Given the description of an element on the screen output the (x, y) to click on. 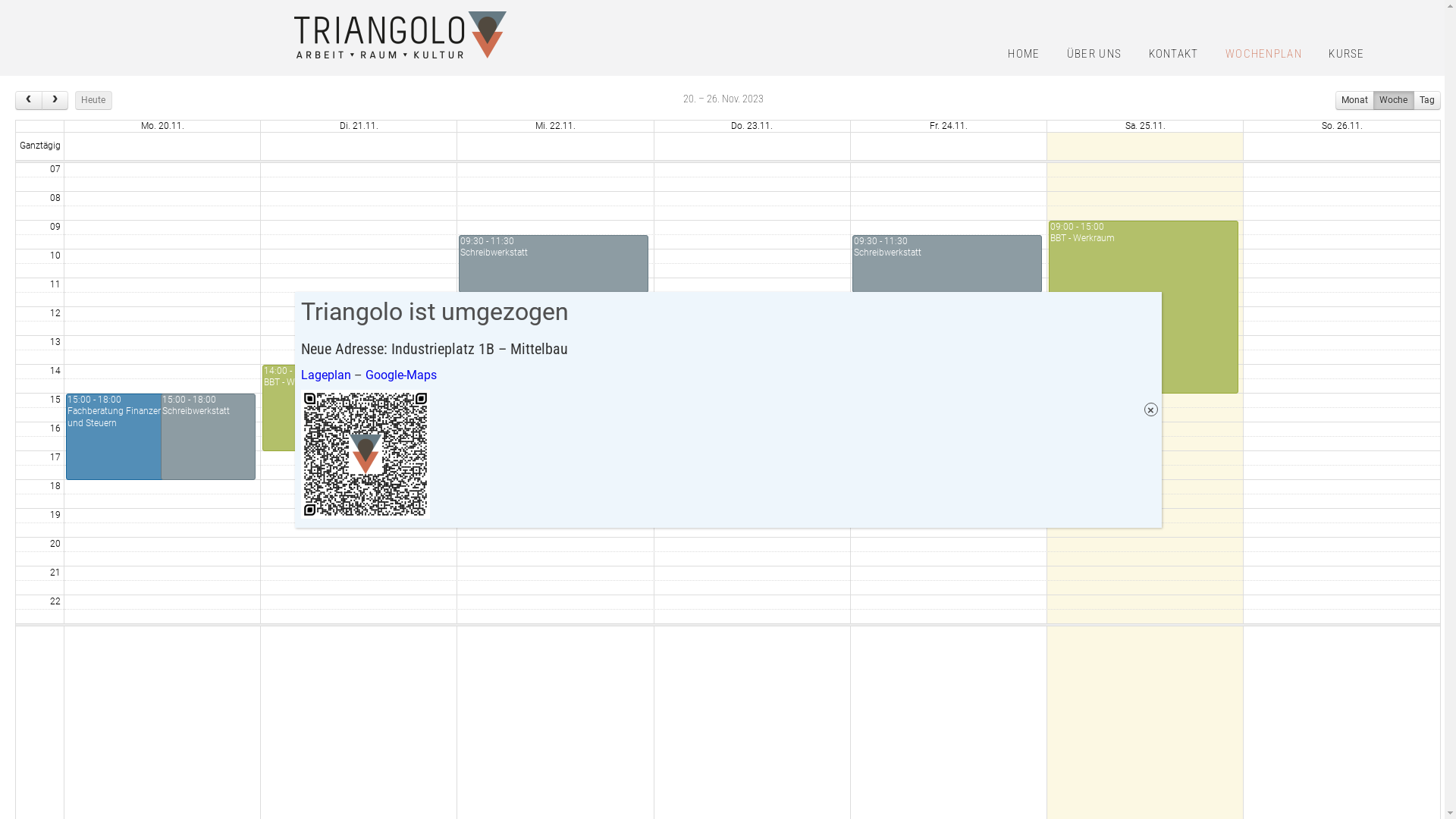
Heute Element type: text (93, 100)
KONTAKT Element type: text (1173, 54)
15:00 - 18:00
Schreibwerkstatt Element type: text (207, 436)
14:00 - 17:00
BBT - Werkraum Element type: text (349, 407)
09:30 - 11:30
Schreibwerkstatt Element type: text (946, 263)
09:00 - 15:00
BBT - Werkraum Element type: text (1143, 306)
WOCHENPLAN Element type: text (1263, 54)
KURSE Element type: text (1346, 54)
Lageplan Element type: text (325, 374)
Google-Maps Element type: text (400, 374)
Tag Element type: text (1426, 100)
Monat Element type: text (1354, 100)
15:30 - 18:00
Deutsch - Nachhilfe Element type: text (600, 443)
09:30 - 11:30
Schreibwerkstatt Element type: text (553, 263)
14:00 - 17:00
BBT Werkraum Element type: text (404, 407)
Logo_Tiangolo_sRGB_280px Element type: hover (400, 34)
Woche Element type: text (1393, 100)
HOME Element type: text (1023, 54)
